Given the description of an element on the screen output the (x, y) to click on. 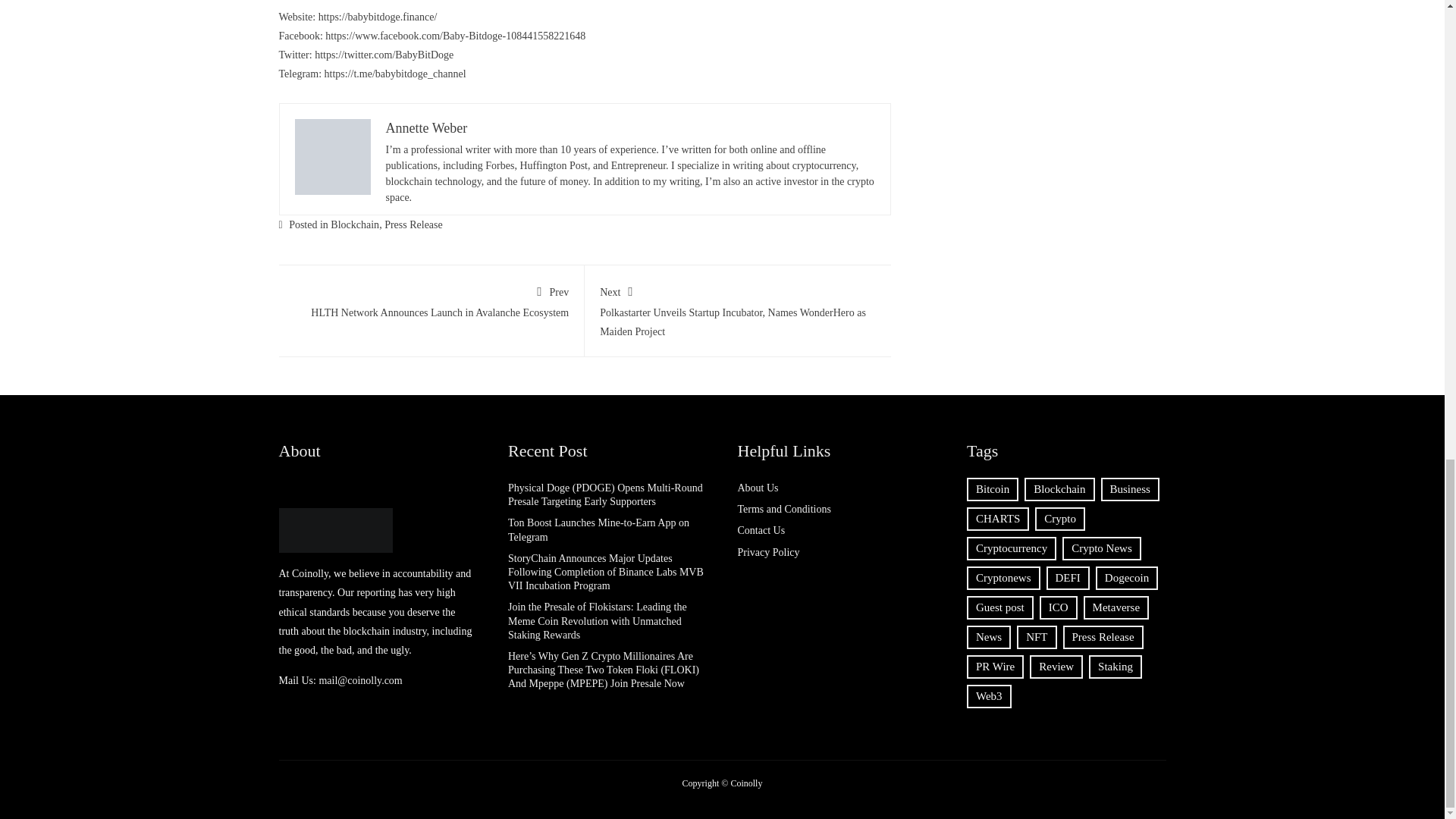
Terms and Conditions (782, 509)
Ton Boost Launches Mine-to-Earn App on Telegram (598, 529)
Blockchain (354, 224)
About Us (756, 487)
Annette Weber (431, 299)
Press Release (426, 127)
